Given the description of an element on the screen output the (x, y) to click on. 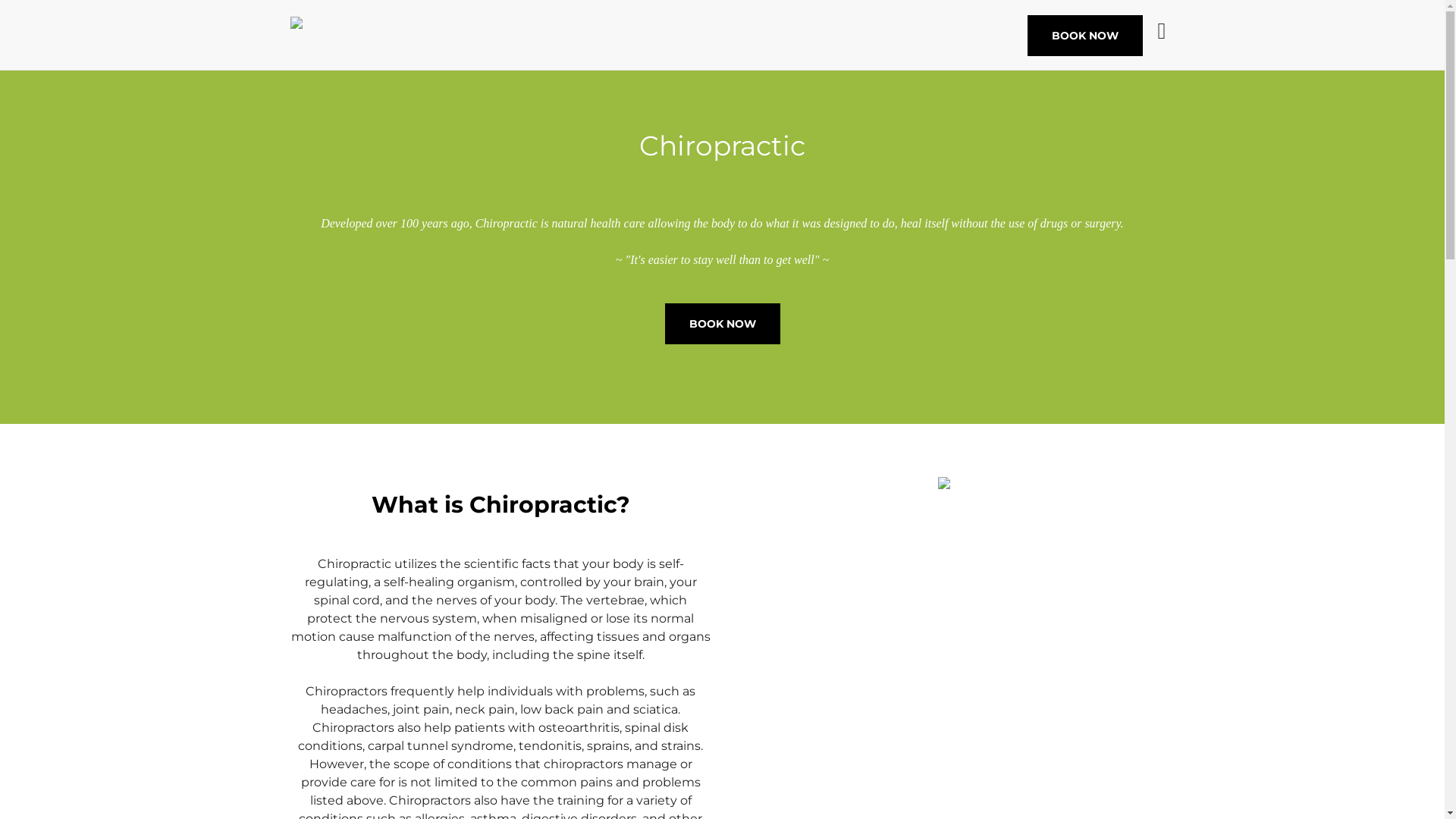
BOOK NOW Element type: text (721, 323)
BOOK NOW Element type: text (1084, 35)
BOOK NOW Element type: text (721, 329)
